Given the description of an element on the screen output the (x, y) to click on. 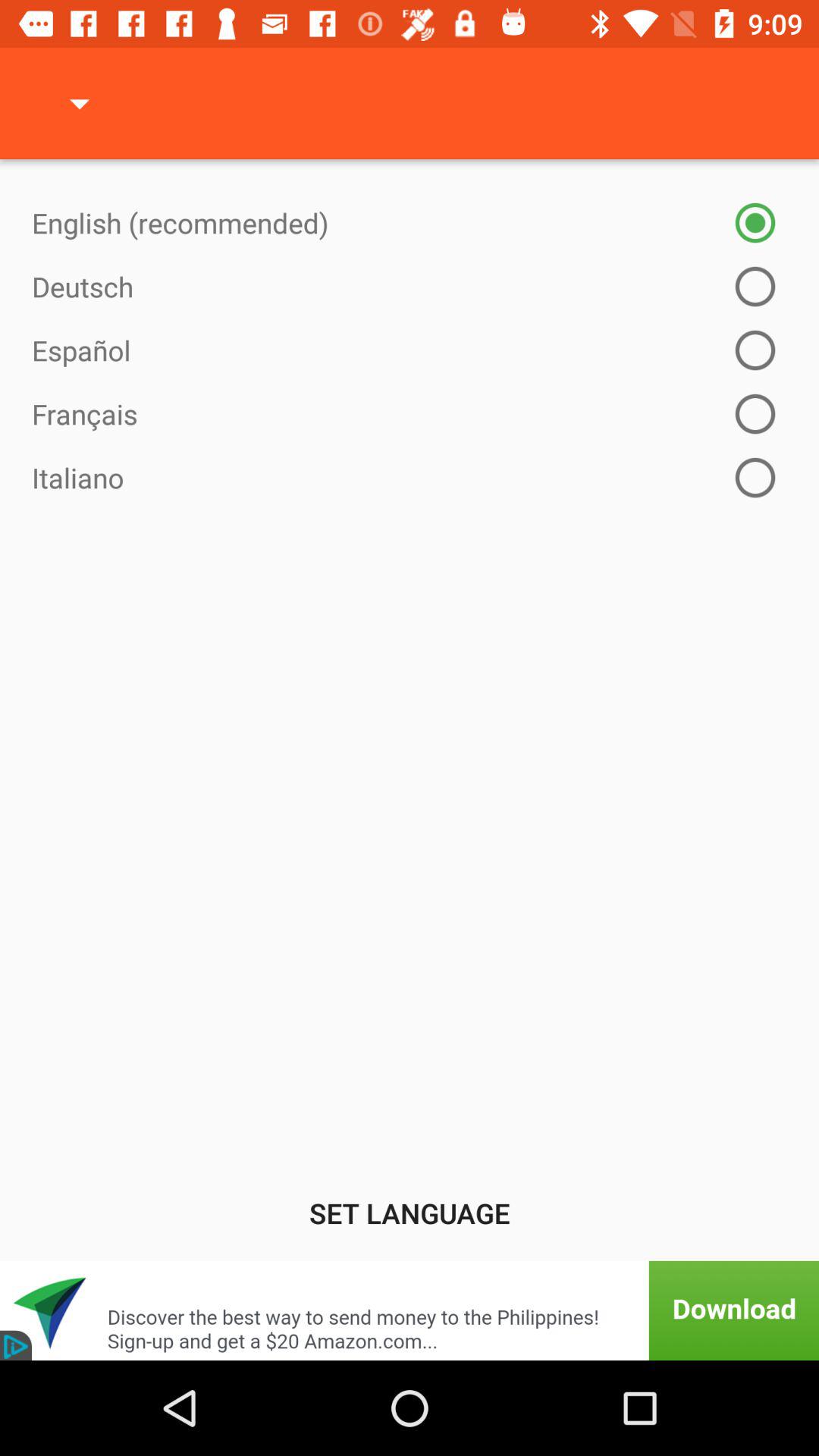
download app (409, 1310)
